Given the description of an element on the screen output the (x, y) to click on. 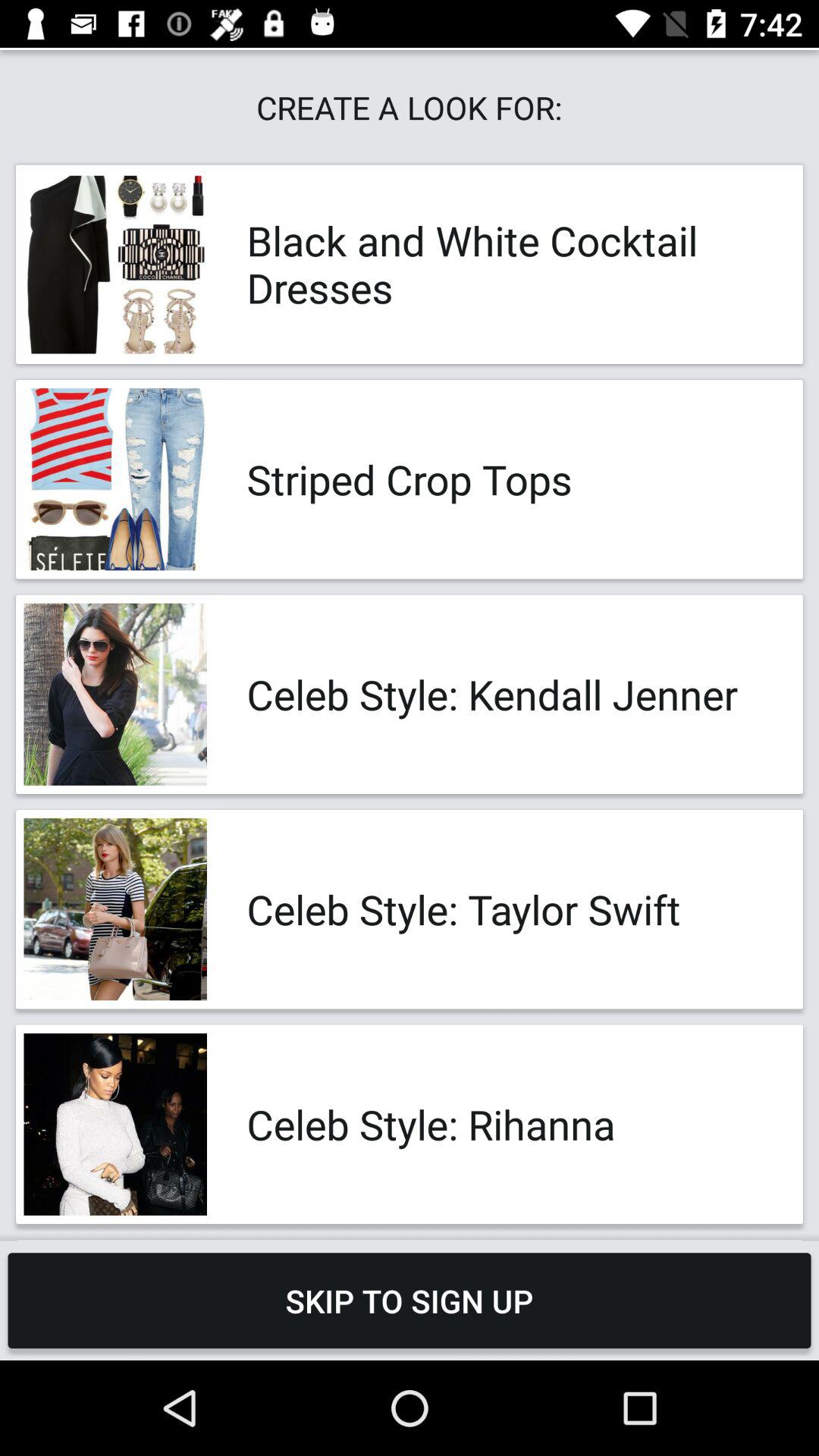
flip to summer staples under icon (508, 1240)
